Given the description of an element on the screen output the (x, y) to click on. 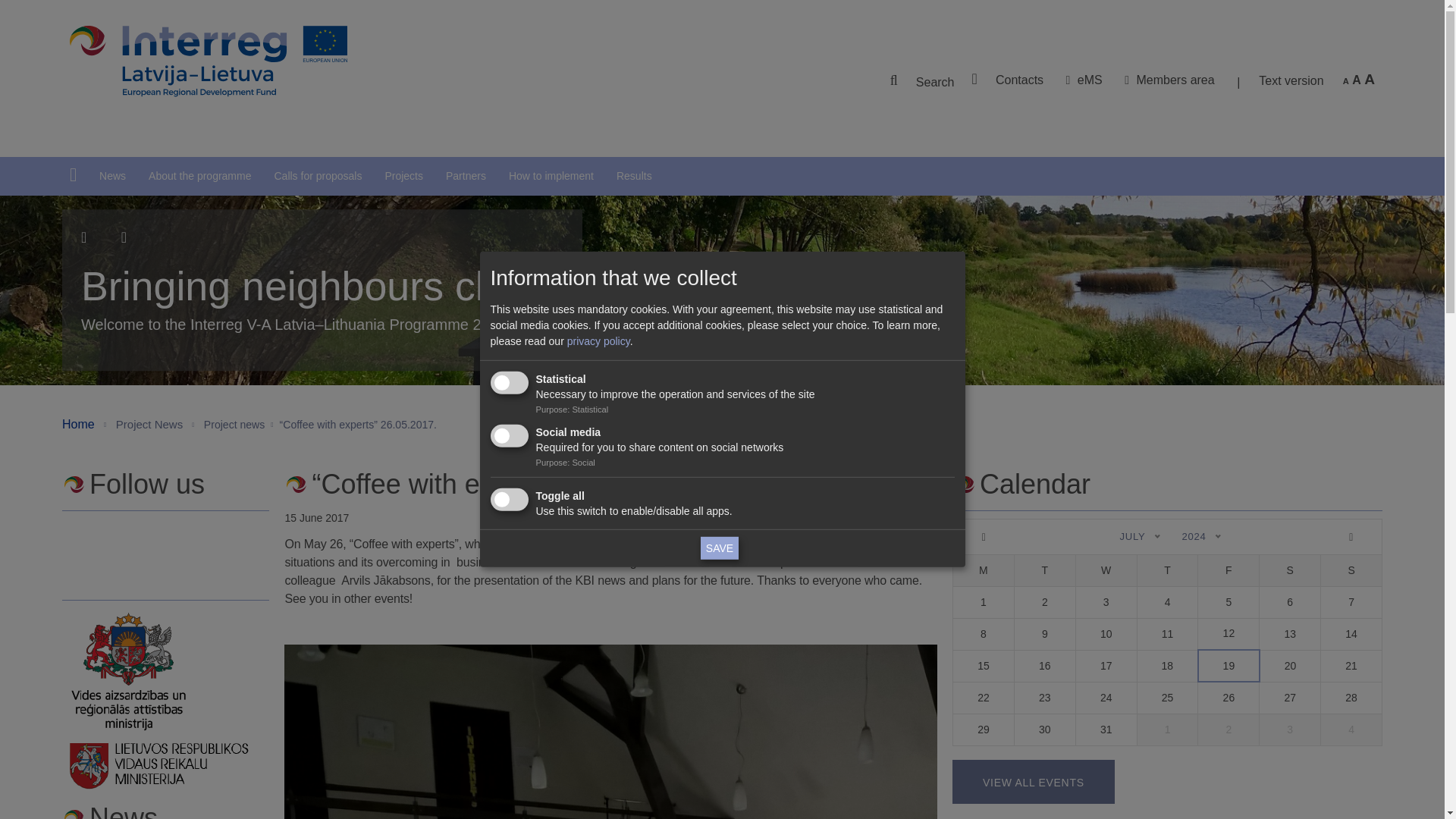
Projects (403, 175)
About the programme (199, 175)
Partners (465, 175)
eMS (1089, 79)
News (112, 175)
Text version (1291, 83)
Go to the Project news category archives. (233, 422)
Members area (1175, 79)
How to implement (551, 175)
Calls for proposals (317, 175)
Contacts (1019, 79)
LV-LT (208, 61)
